Given the description of an element on the screen output the (x, y) to click on. 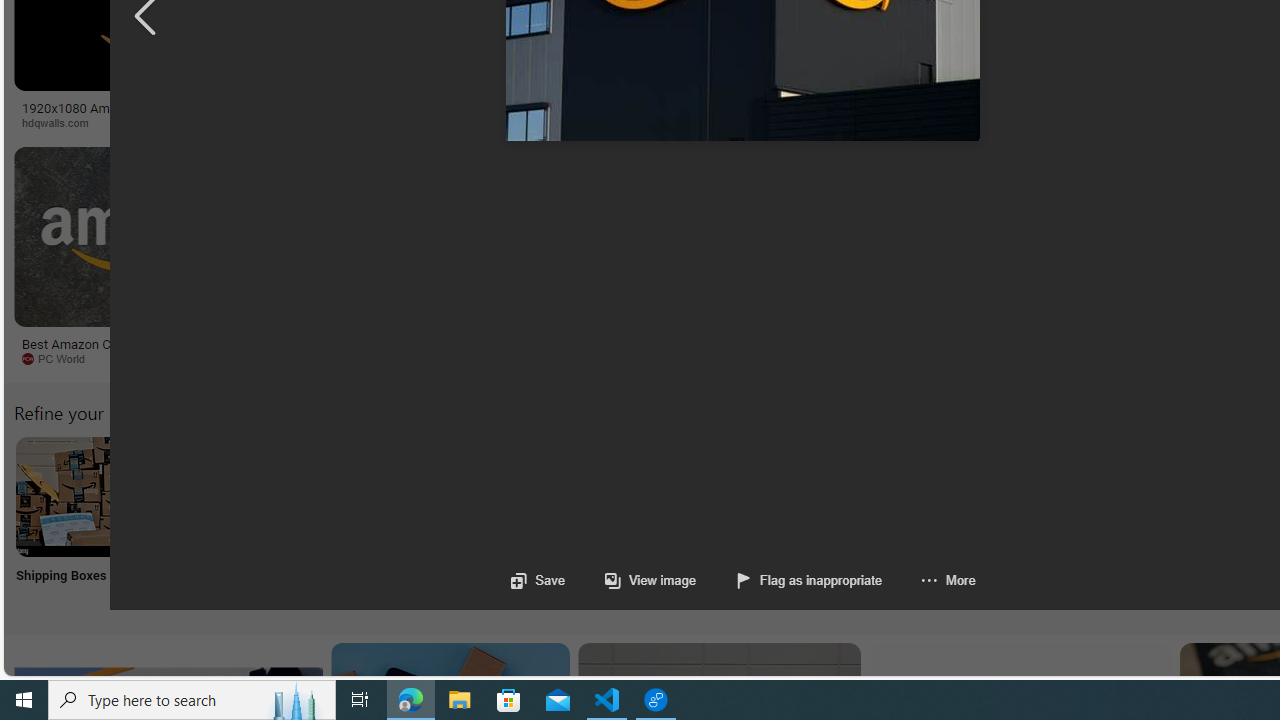
Online Store (1131, 521)
hdqwalls.com (61, 121)
Clip Art (339, 521)
View image (650, 580)
How Much Is Amazon's Net Worth? | GOBankingRates (485, 114)
PC World (59, 358)
Marketplace (807, 123)
Log into My Account (472, 521)
Amazon Package Delivery Package Delivery (735, 521)
Amazon Online Store Online Store (1131, 521)
Package Delivery (735, 521)
Amazon Clip Art Clip Art (339, 521)
Flag as inappropriate (789, 580)
